Given the description of an element on the screen output the (x, y) to click on. 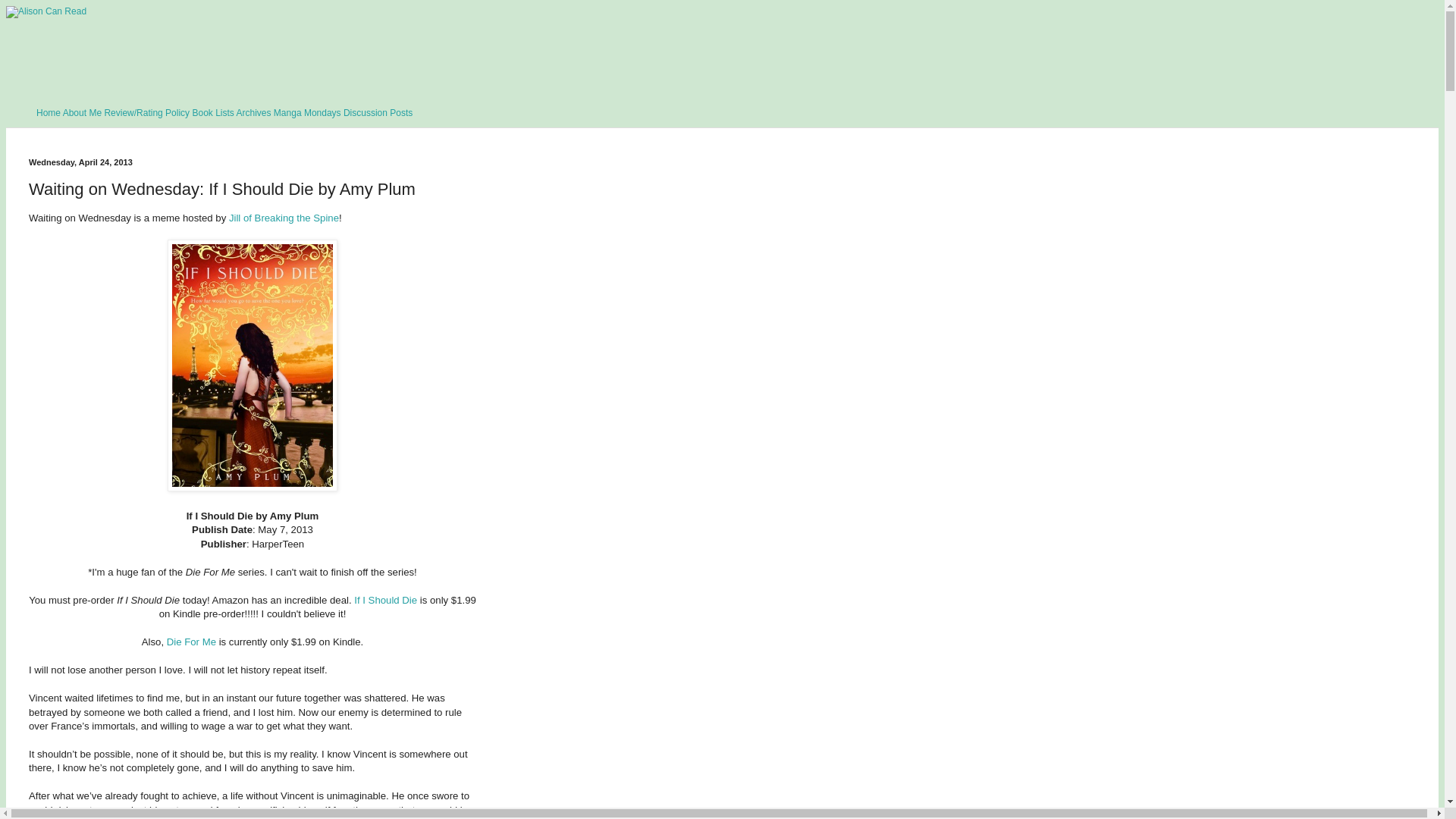
Jill of Breaking the Spine (283, 217)
About Me (81, 112)
Manga Mondays (306, 112)
Archives (252, 112)
Die For Me (191, 641)
Book Lists (212, 112)
Discussion Posts (377, 112)
Home (48, 112)
If I Should Die (384, 600)
